Given the description of an element on the screen output the (x, y) to click on. 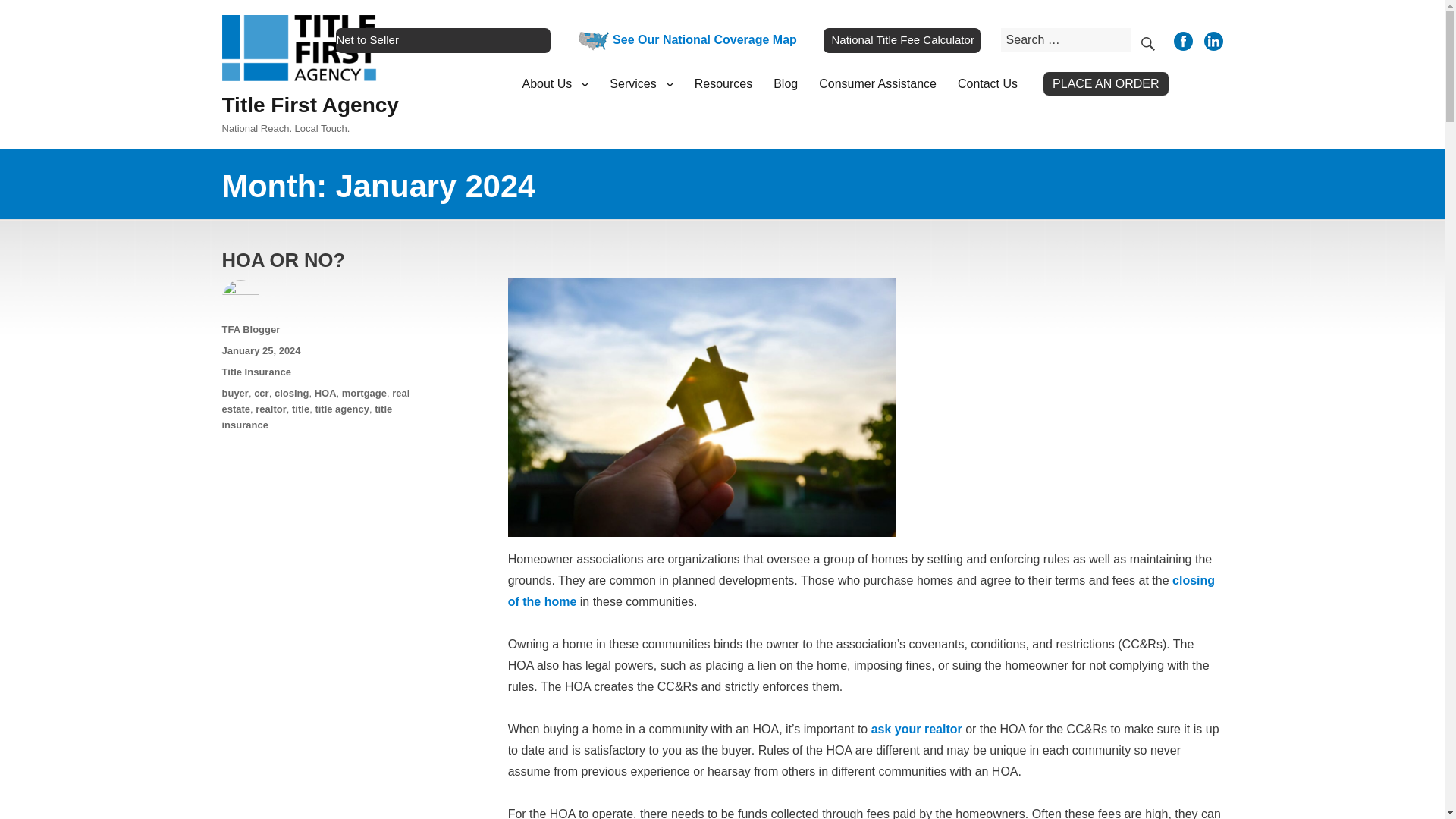
Services (640, 83)
SEARCH (1147, 39)
See Our National Coverage Map (683, 39)
National Title Fee Calculator (901, 39)
Title First Agency (309, 105)
Net to Seller (443, 39)
About Us (554, 83)
